Given the description of an element on the screen output the (x, y) to click on. 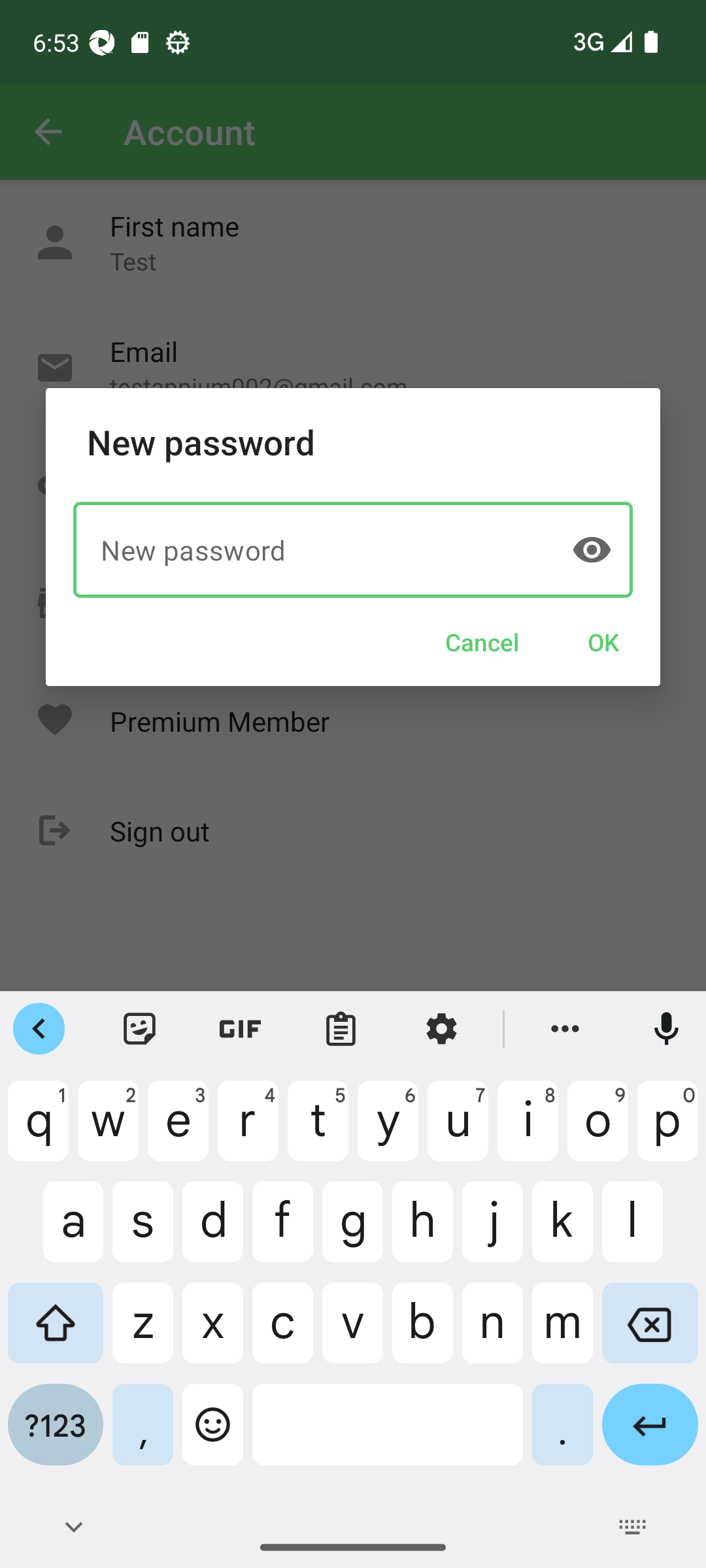
New password (352, 549)
Show password (591, 549)
Cancel (481, 641)
OK (603, 641)
